Given the description of an element on the screen output the (x, y) to click on. 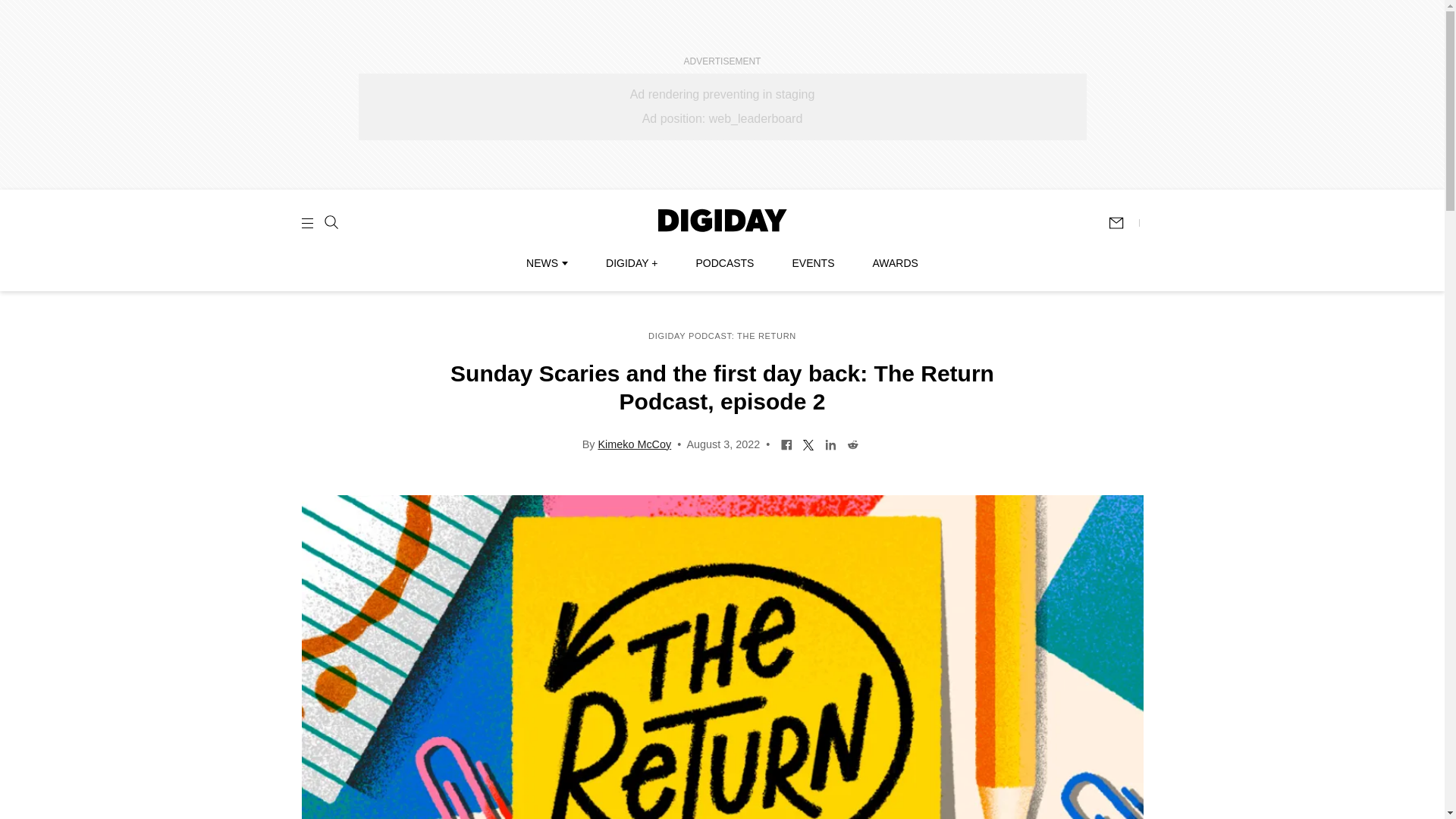
EVENTS (813, 262)
Share on Twitter (808, 443)
Share on Reddit (852, 443)
PODCASTS (725, 262)
AWARDS (894, 262)
NEWS (546, 262)
Share on LinkedIn (830, 443)
Share on Facebook (786, 443)
Subscribe (1123, 223)
